Given the description of an element on the screen output the (x, y) to click on. 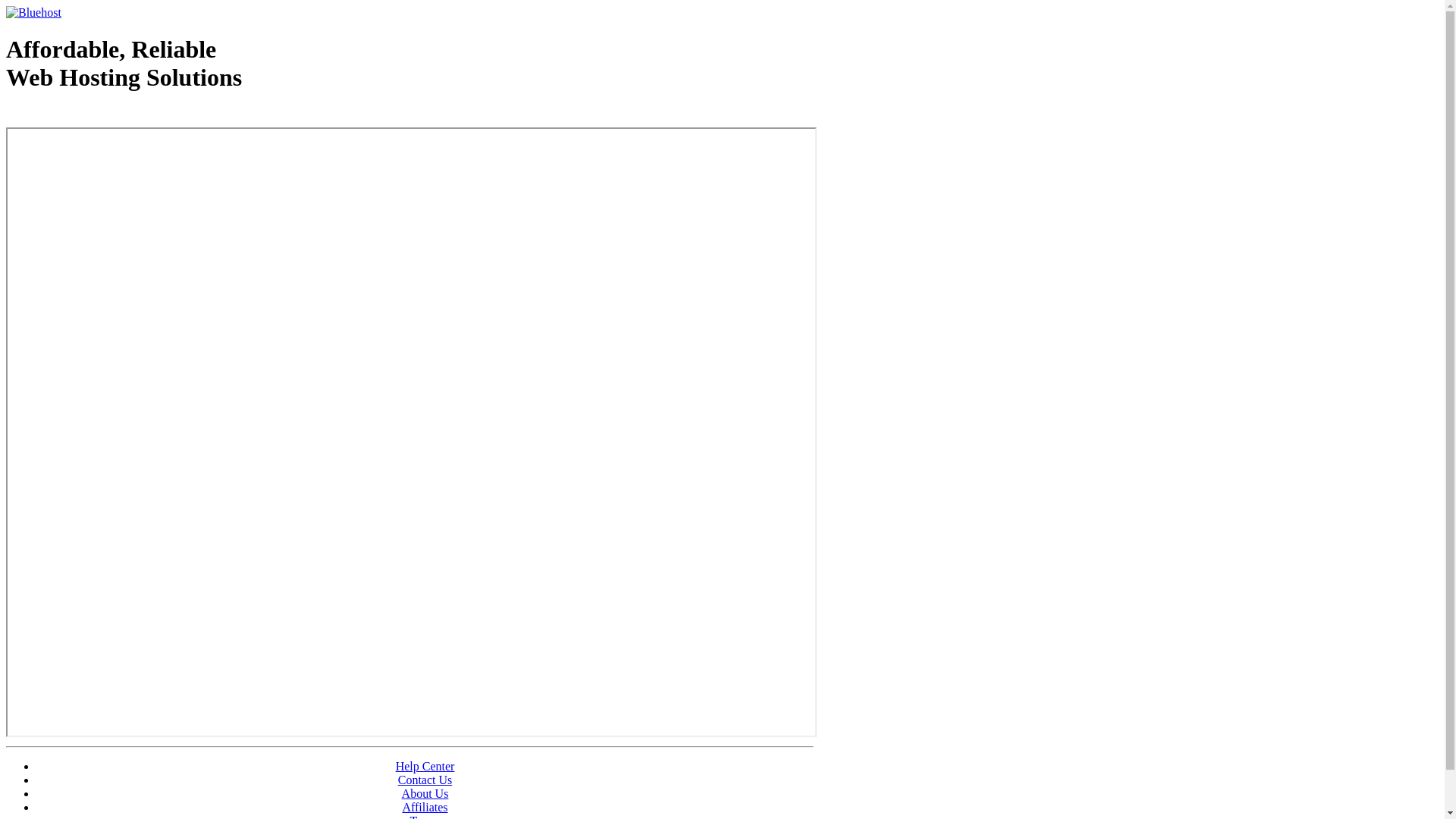
Web Hosting - courtesy of www.bluehost.com Element type: text (94, 115)
Contact Us Element type: text (425, 779)
Help Center Element type: text (425, 765)
About Us Element type: text (424, 793)
Affiliates Element type: text (424, 806)
